Given the description of an element on the screen output the (x, y) to click on. 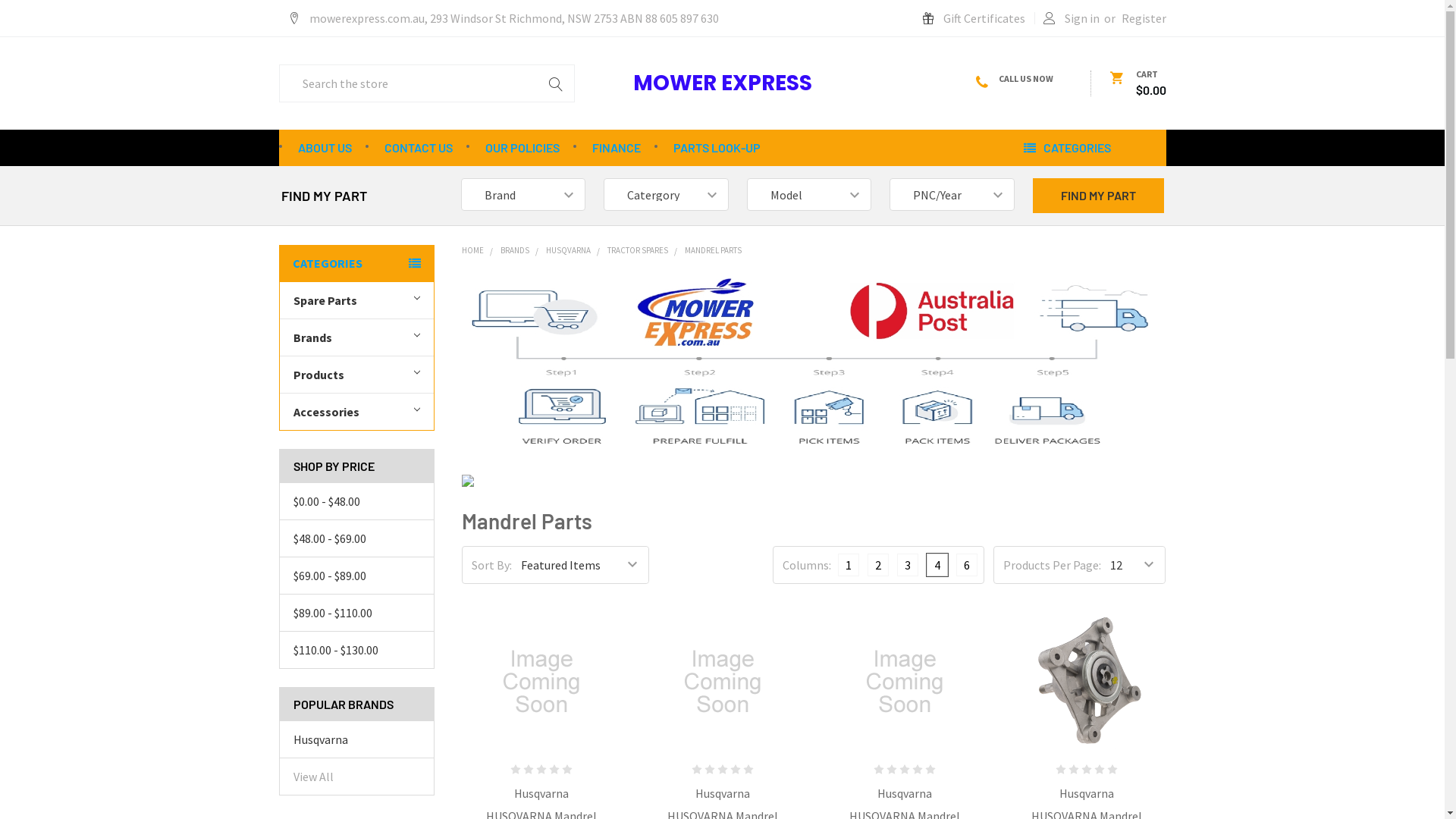
$0.00 - $48.00 Element type: text (355, 501)
Husqvarna Element type: text (355, 739)
Register Element type: text (1142, 18)
CONTACT US Element type: text (417, 147)
HUSQVARNA Mandrel Assembly (R/H) 581 65 05-01 Element type: hover (1086, 681)
MANDREL PARTS Element type: text (712, 249)
Brands Element type: text (356, 336)
$69.00 - $89.00 Element type: text (355, 575)
PARTS LOOK-UP Element type: text (716, 147)
Find my part Element type: text (1098, 195)
CATEGORIES Element type: text (356, 262)
TRACTOR SPARES Element type: text (637, 249)
Sign in Element type: text (1071, 18)
CALL US NOW Element type: text (1022, 78)
Search Element type: text (555, 83)
Spare Parts Element type: text (356, 300)
Accessories Element type: text (356, 410)
CART
$0.00 Element type: text (1136, 83)
HOME Element type: text (472, 249)
HUSQVARNA Element type: text (568, 249)
FINANCE Element type: text (615, 147)
CATEGORIES Element type: text (1087, 147)
MOWER EXPRESS Element type: text (851, 115)
OUR POLICIES Element type: text (522, 147)
BRANDS Element type: text (514, 249)
$110.00 - $130.00 Element type: text (355, 649)
ABOUT US Element type: text (323, 147)
Gift Certificates Element type: text (973, 18)
$89.00 - $110.00 Element type: text (355, 612)
$48.00 - $69.00 Element type: text (355, 538)
Products Element type: text (356, 373)
View All Element type: text (312, 776)
